Given the description of an element on the screen output the (x, y) to click on. 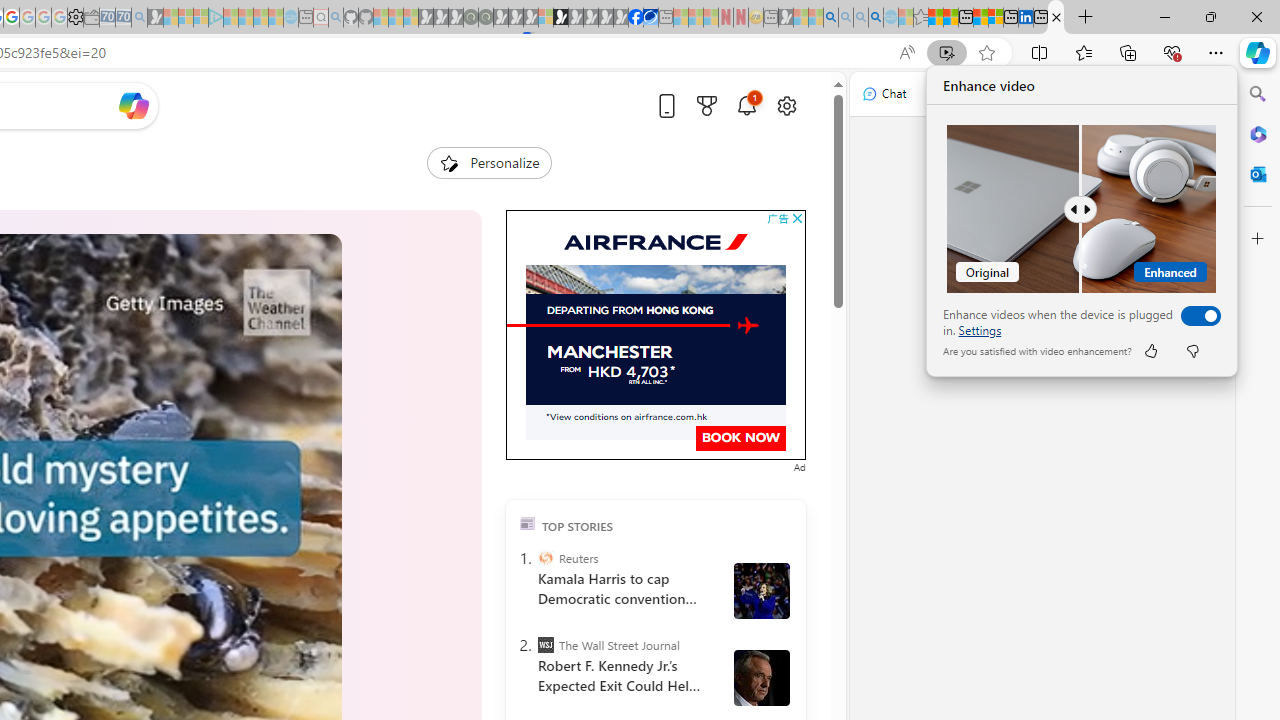
Comparision (1081, 209)
Microsoft Start Gaming - Sleeping (155, 17)
The Wall Street Journal (545, 645)
Future Focus Report 2024 - Sleeping (485, 17)
AQI & Health | AirNow.gov (650, 17)
Open settings (786, 105)
